Given the description of an element on the screen output the (x, y) to click on. 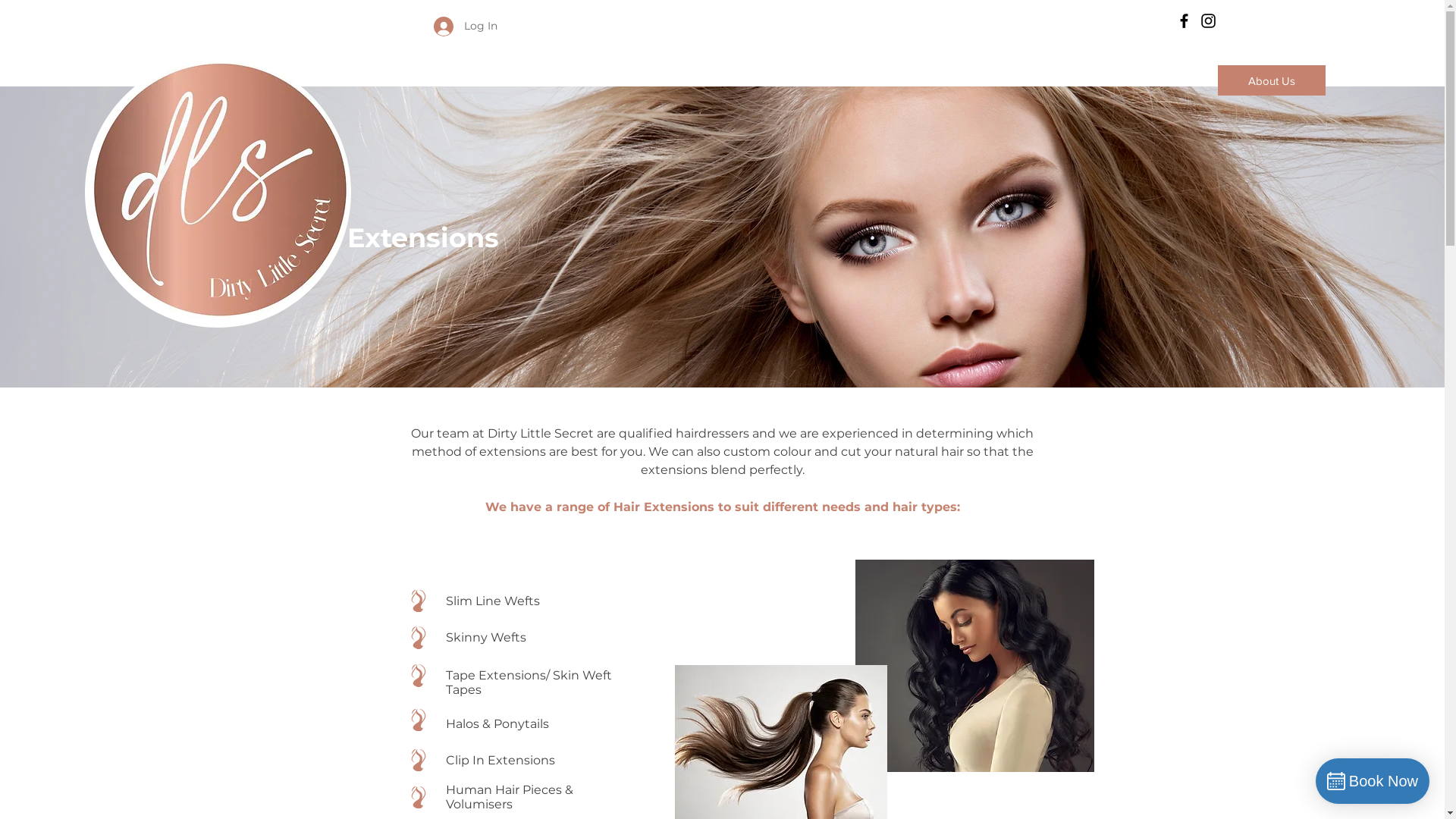
About Us Element type: text (1271, 80)
Book Now Element type: text (1372, 780)
Log In Element type: text (454, 26)
